Given the description of an element on the screen output the (x, y) to click on. 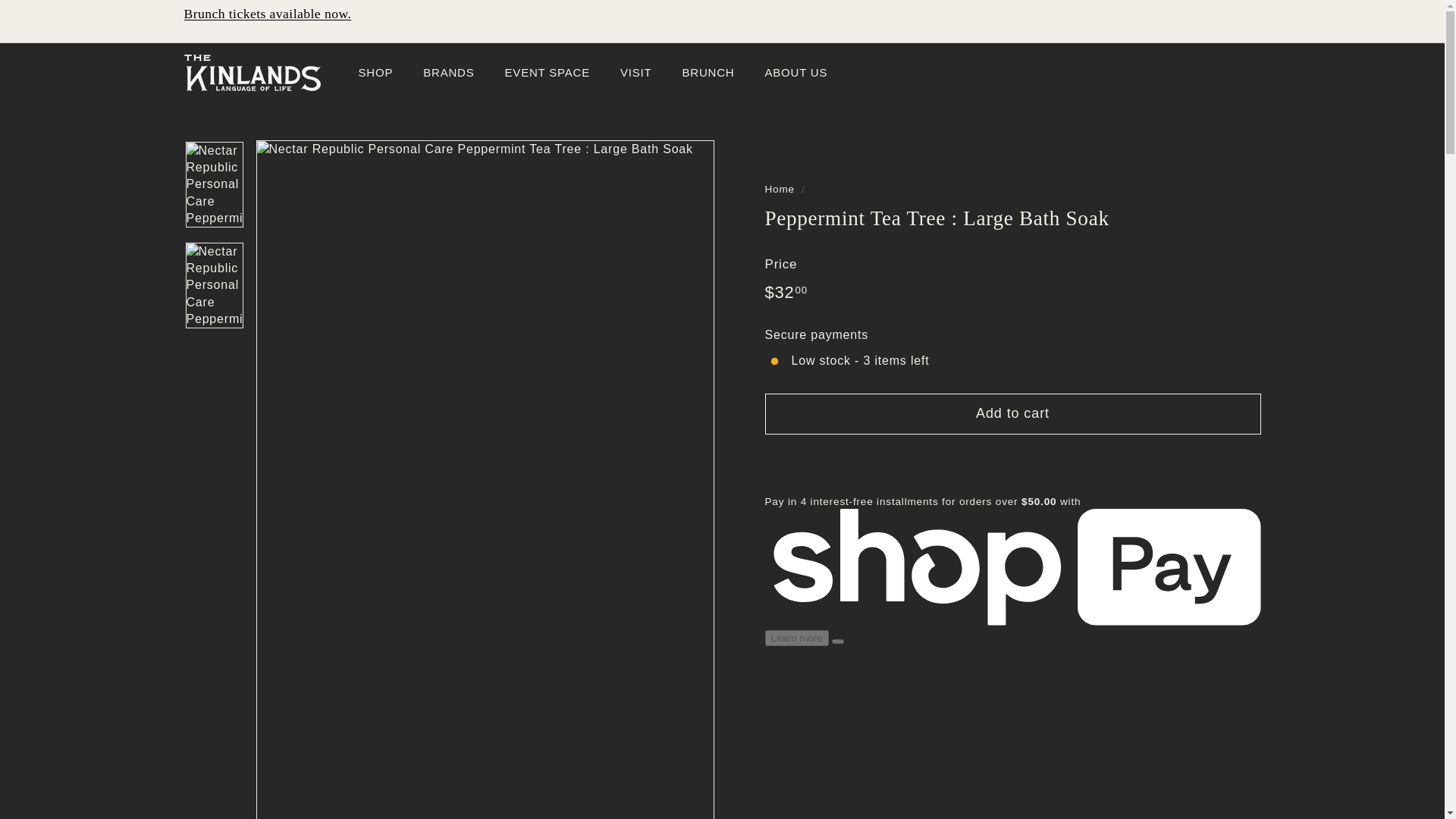
Brunch tickets available now. (266, 13)
Land to Table Brunch (266, 13)
Back to the frontpage (778, 188)
